Given the description of an element on the screen output the (x, y) to click on. 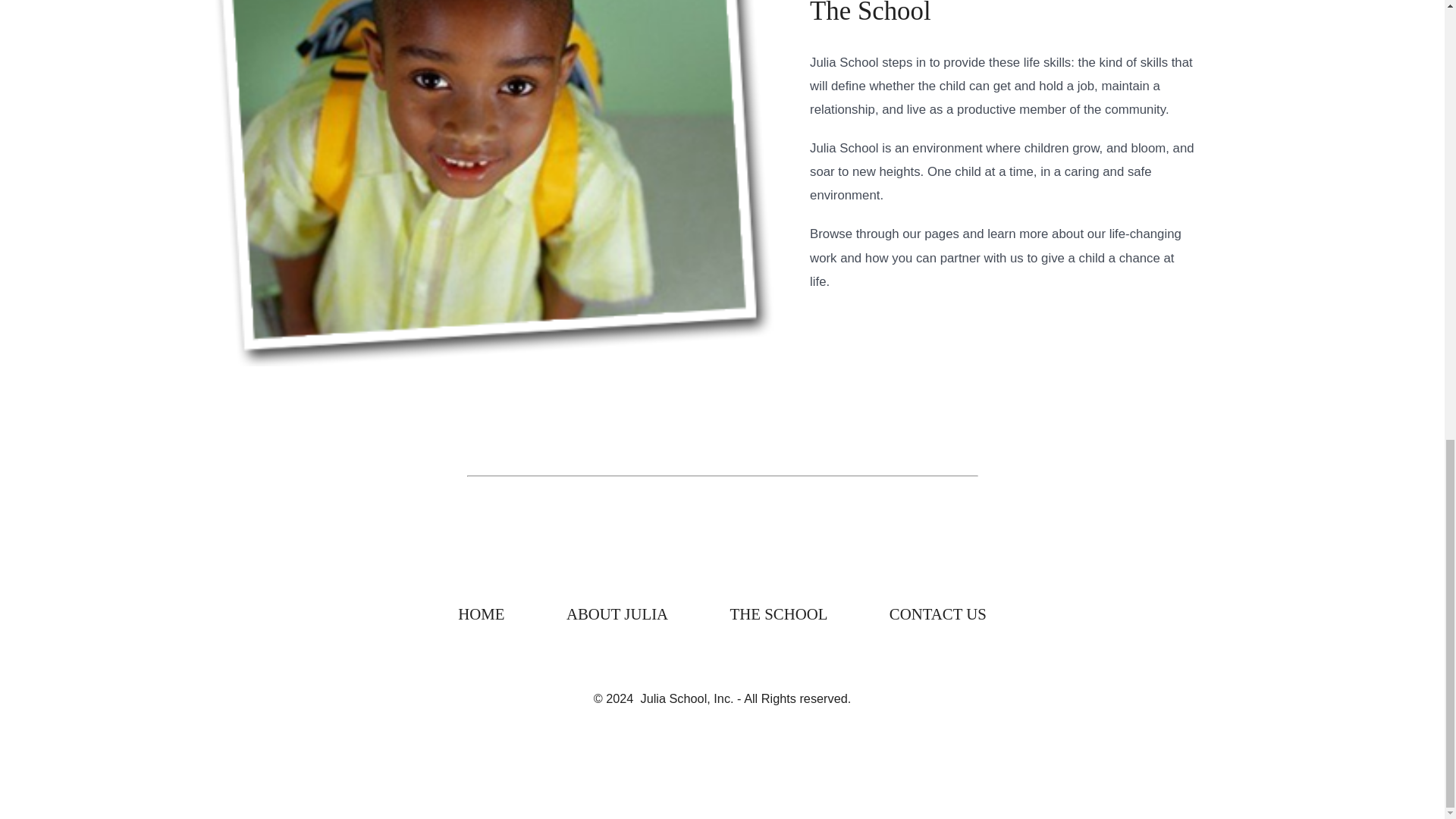
HOME (481, 614)
ABOUT JULIA (617, 614)
CONTACT US (937, 614)
THE SCHOOL (778, 614)
